Given the description of an element on the screen output the (x, y) to click on. 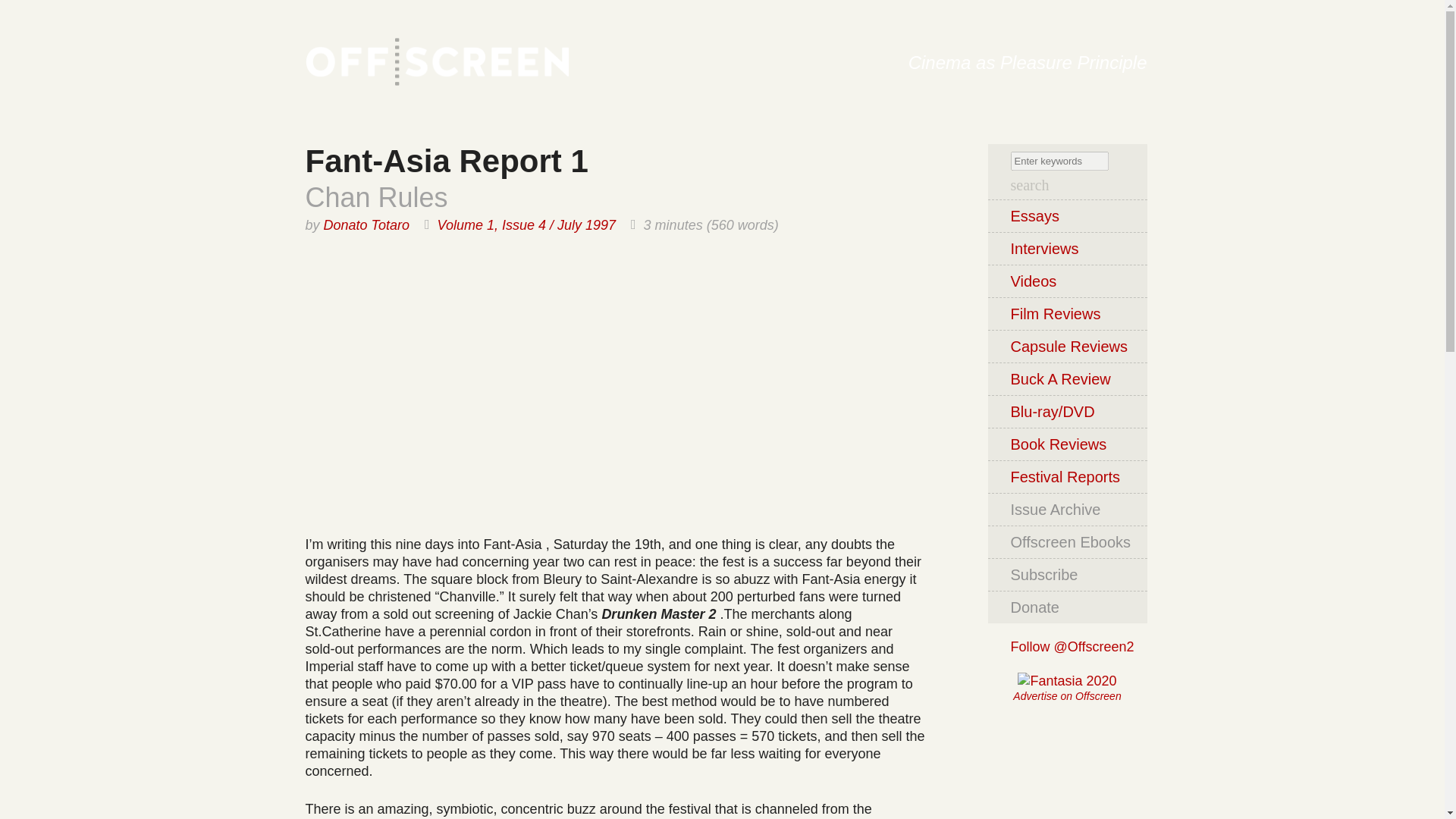
Capsule Reviews (1067, 346)
search (1029, 184)
Interviews (1067, 247)
Offscreen Ebooks (1067, 541)
Festival Reports (1067, 476)
Issue Archive (1067, 509)
Essays (1067, 215)
Donato Totaro (366, 224)
Film Reviews (1067, 313)
Subscribe (1067, 573)
